Given the description of an element on the screen output the (x, y) to click on. 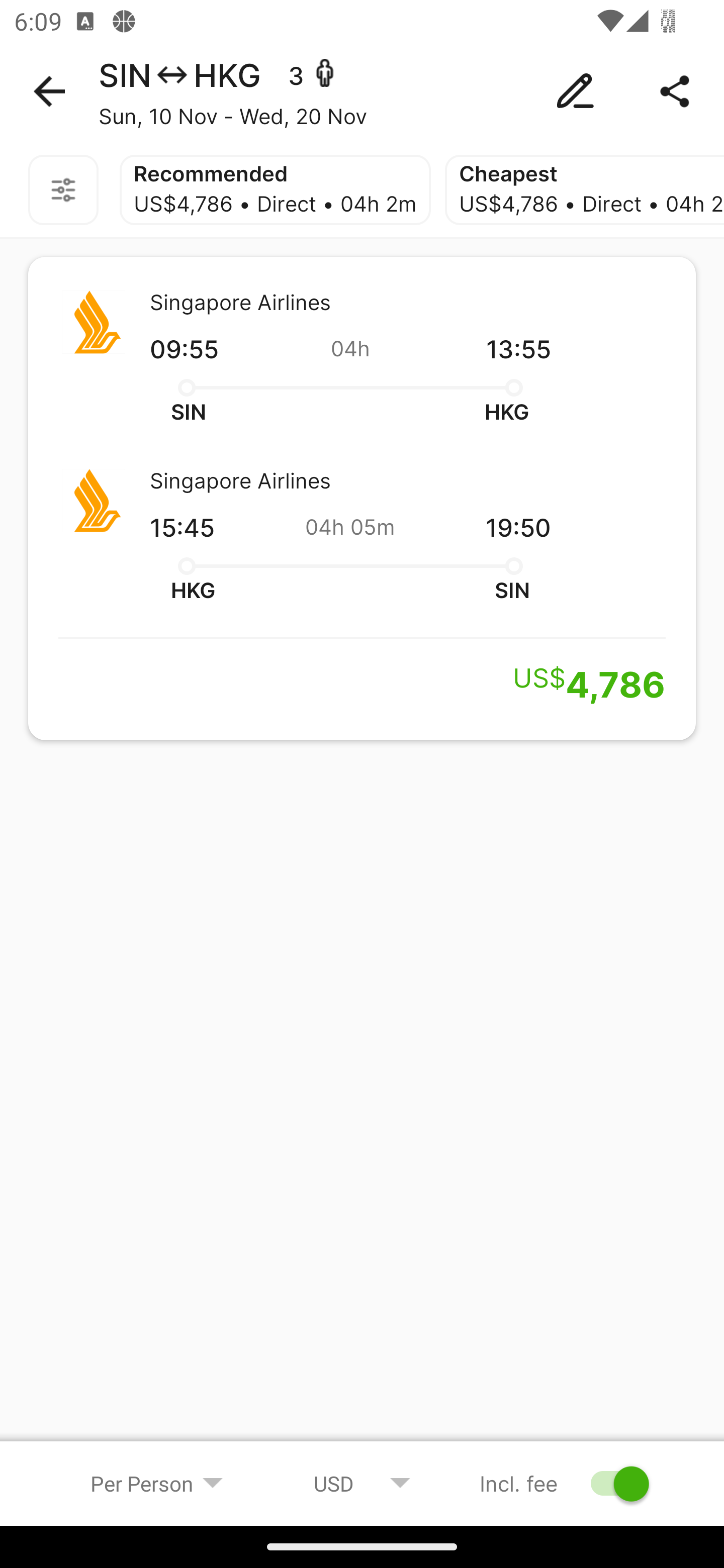
SIN HKG   3 - Sun, 10 Nov - Wed, 20 Nov (361, 91)
Recommended  US$4,786 • Direct • 04h 2m (274, 190)
Cheapest US$4,786 • Direct • 04h 2m (584, 190)
Per Person (156, 1482)
USD (361, 1482)
